Given the description of an element on the screen output the (x, y) to click on. 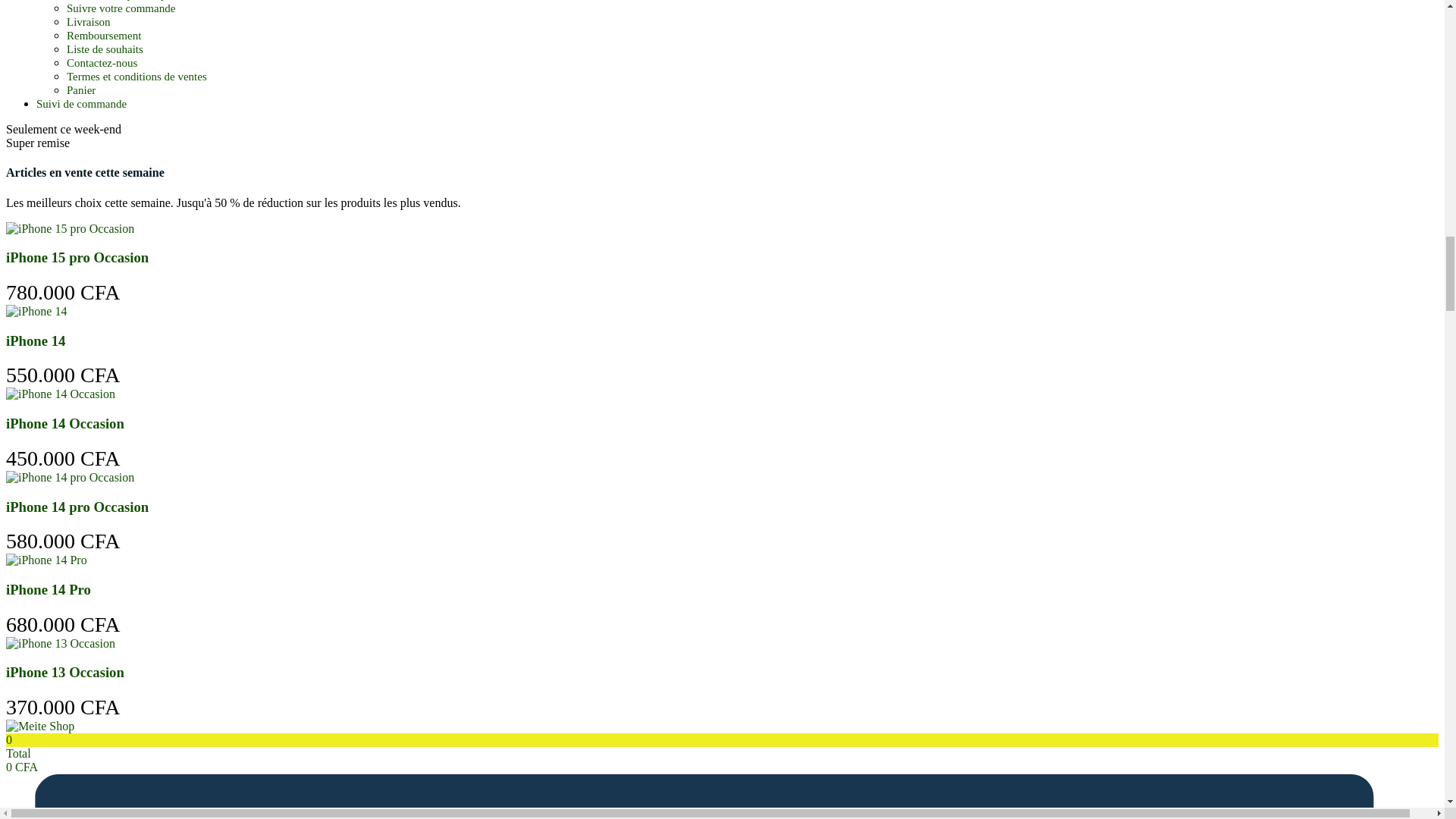
Meite Shop (39, 725)
